Given the description of an element on the screen output the (x, y) to click on. 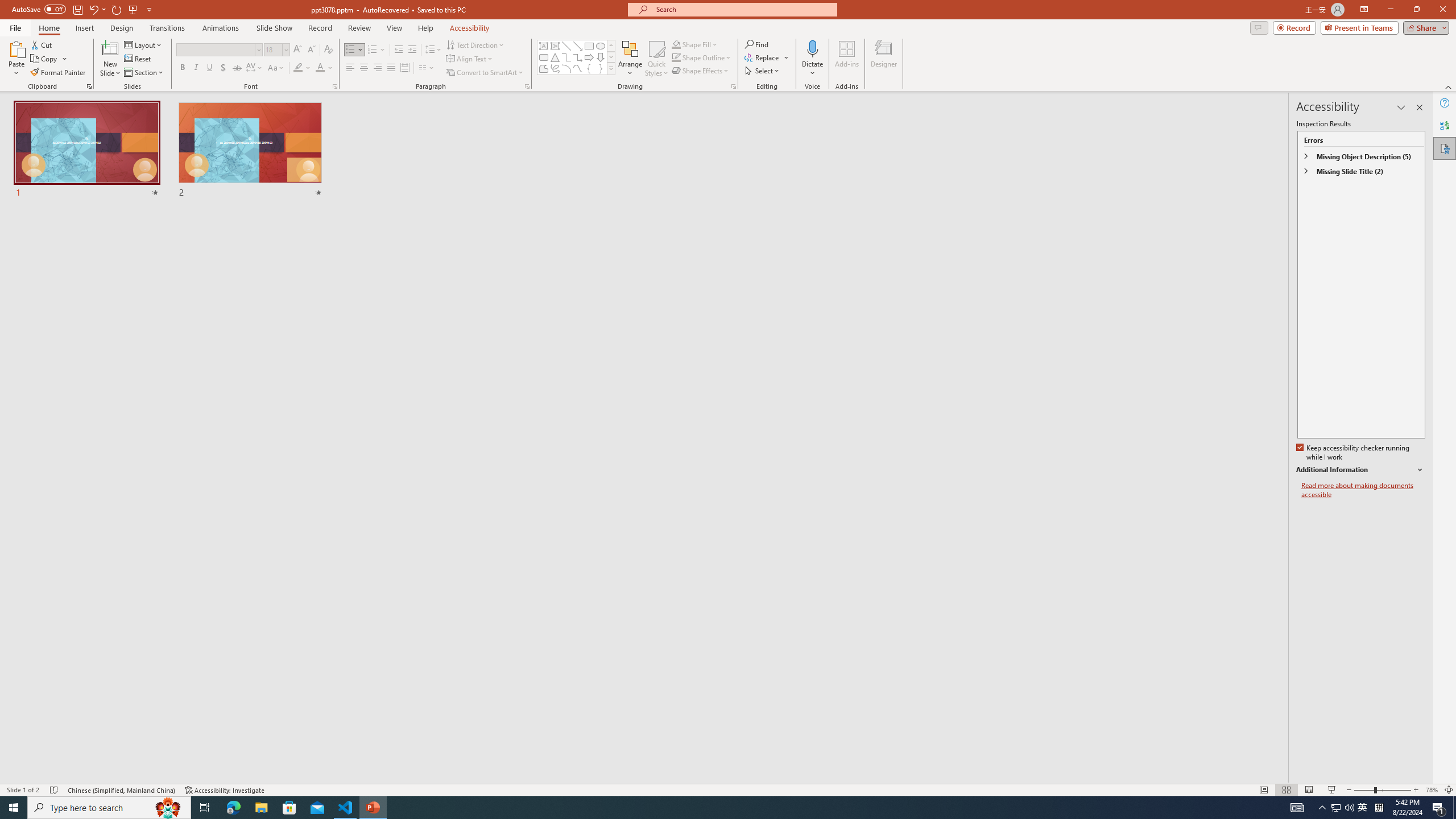
Zoom 78% (1431, 790)
